Given the description of an element on the screen output the (x, y) to click on. 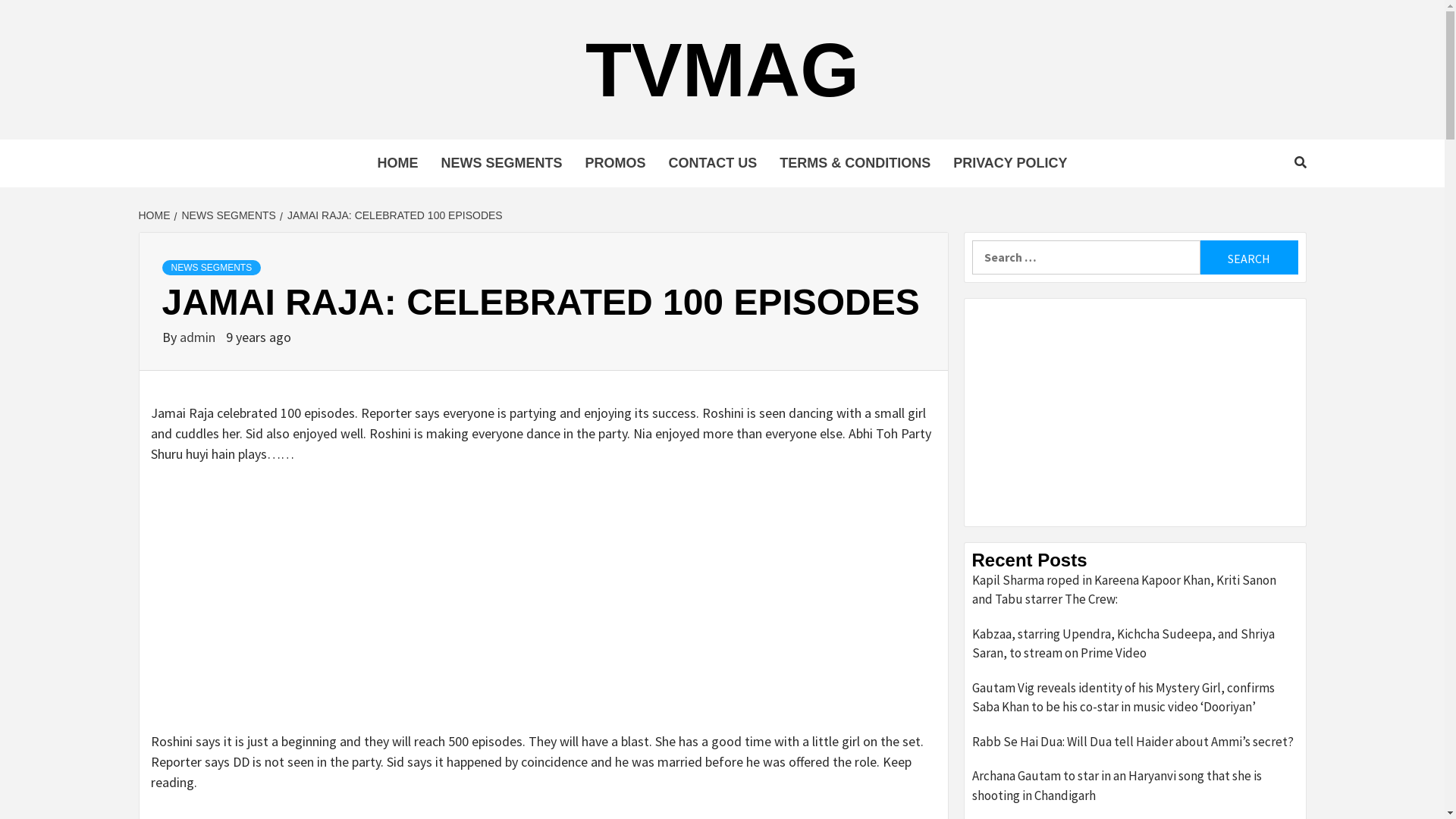
Search Element type: text (1248, 257)
NEWS SEGMENTS Element type: text (226, 215)
PRIVACY POLICY Element type: text (1009, 163)
TVMAG Element type: text (721, 69)
NEWS SEGMENTS Element type: text (501, 163)
TERMS & CONDITIONS Element type: text (854, 163)
JAMAI RAJA: CELEBRATED 100 EPISODES Element type: text (392, 215)
admin Element type: text (197, 336)
PROMOS Element type: text (614, 163)
CONTACT US Element type: text (712, 163)
NEWS SEGMENTS Element type: text (211, 267)
HOME Element type: text (397, 163)
HOME Element type: text (155, 215)
